Given the description of an element on the screen output the (x, y) to click on. 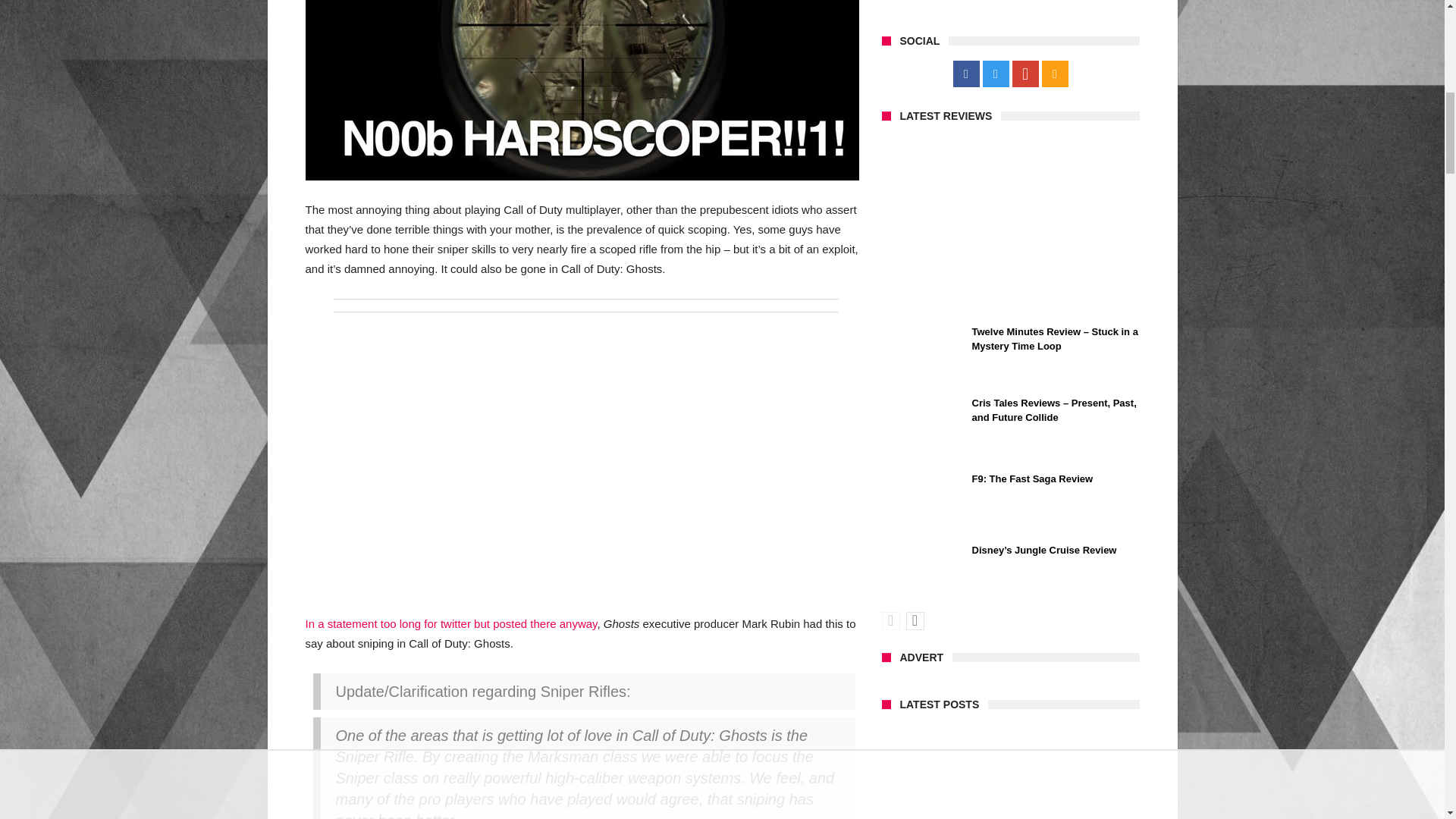
In a statement too long for twitter but posted there anyway (450, 623)
